Given the description of an element on the screen output the (x, y) to click on. 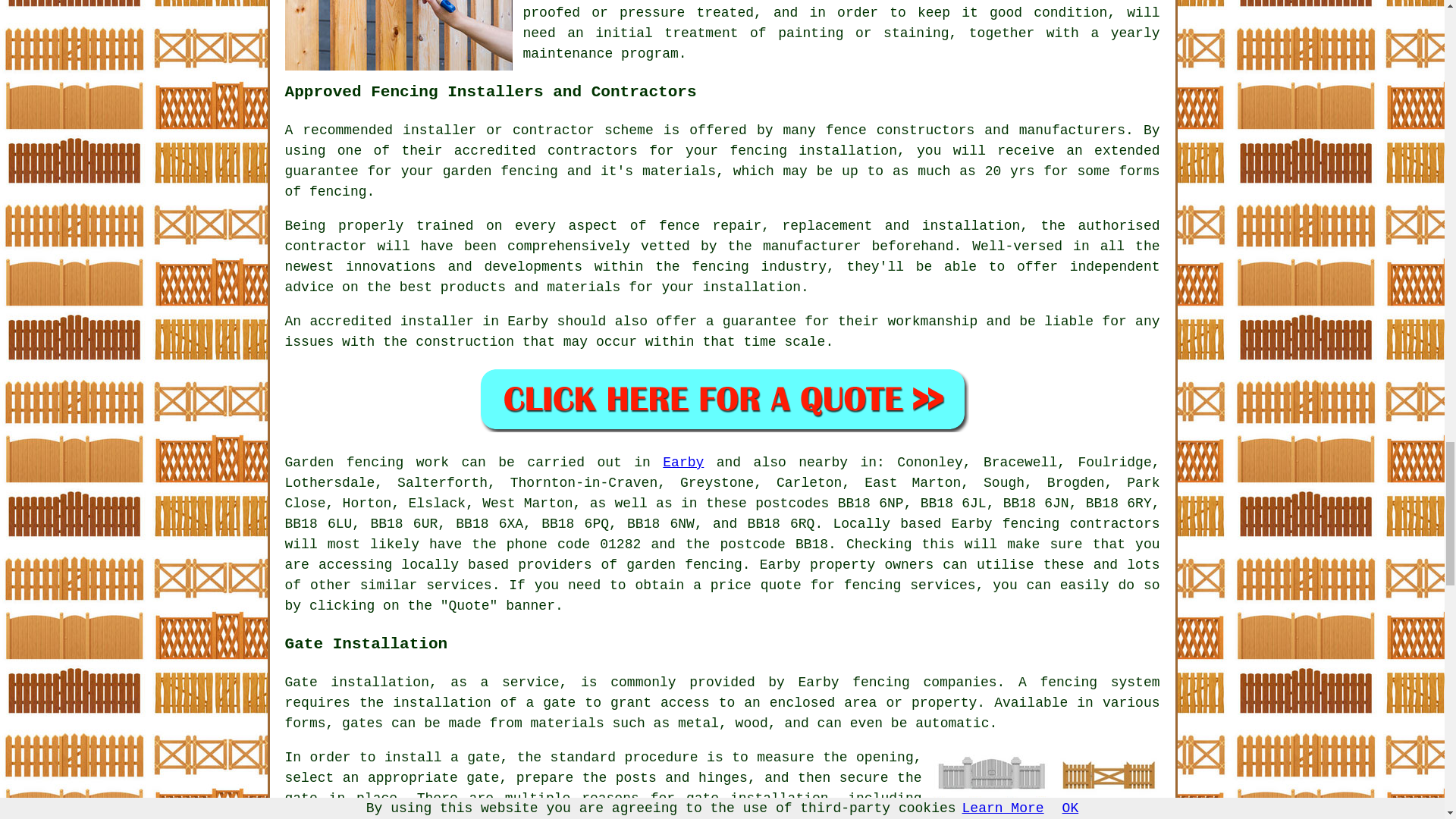
Book Garden Fencing in Earby UK (722, 399)
Painting Garden Fencing Earby (398, 35)
Garden fencing work (367, 462)
fencing (1031, 523)
Garden Gate Installation Earby (1046, 783)
garden fencing (684, 564)
